Given the description of an element on the screen output the (x, y) to click on. 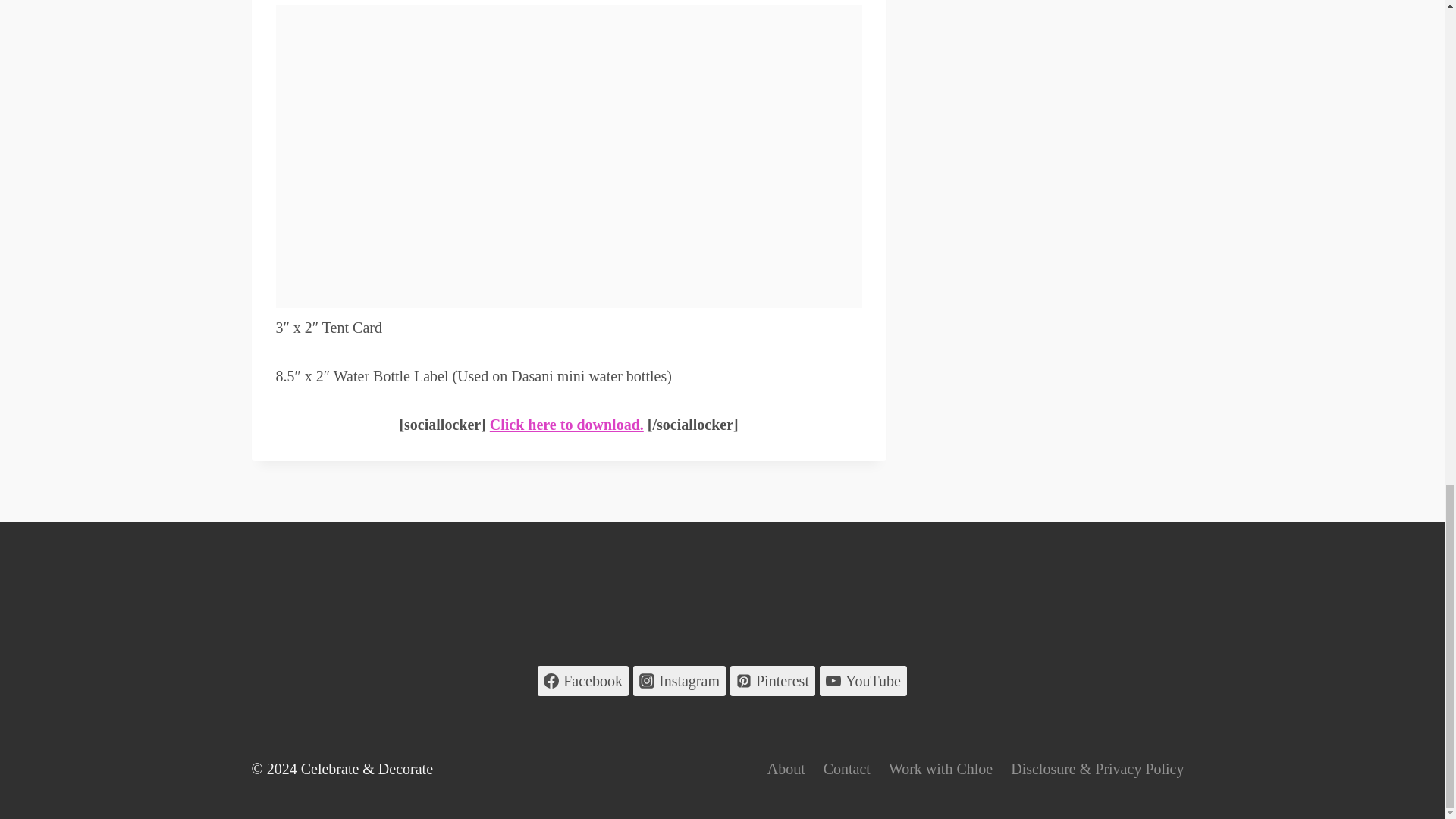
Instagram (679, 680)
Click here to download. (566, 424)
Work with Chloe (940, 768)
About (785, 768)
Pinterest (772, 680)
Contact (846, 768)
Facebook (582, 680)
YouTube (863, 680)
